Given the description of an element on the screen output the (x, y) to click on. 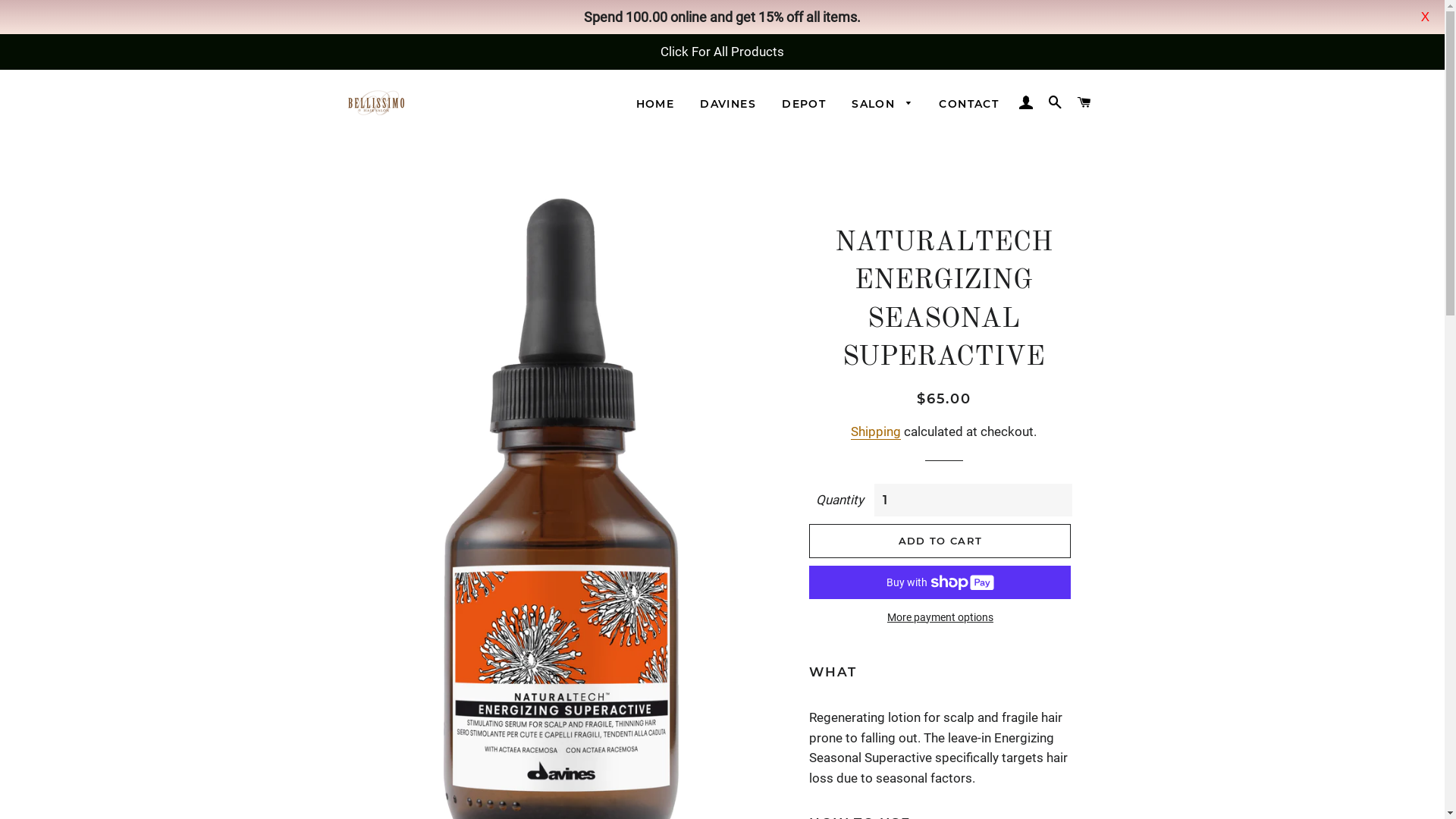
DAVINES Element type: text (727, 104)
CART Element type: text (1084, 103)
SEARCH Element type: text (1055, 103)
DEPOT Element type: text (803, 104)
More payment options Element type: text (939, 617)
LOG IN Element type: text (1025, 103)
SALON Element type: text (882, 104)
HOME Element type: text (655, 104)
Click For All Products Element type: text (722, 51)
Shipping Element type: text (875, 431)
ADD TO CART Element type: text (939, 540)
CONTACT Element type: text (968, 104)
